Given the description of an element on the screen output the (x, y) to click on. 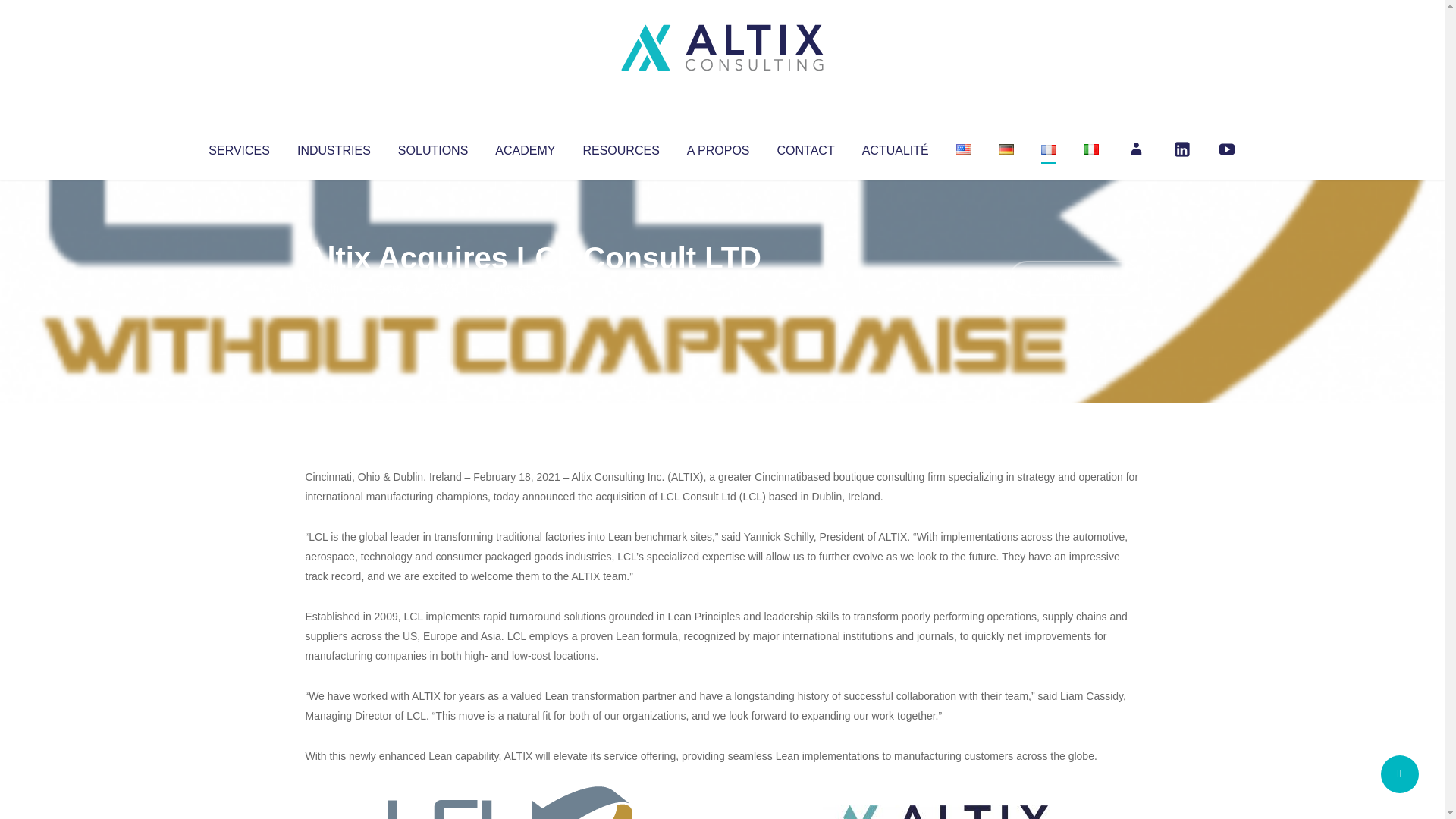
Altix (333, 287)
Articles par Altix (333, 287)
Uncategorized (530, 287)
No Comments (1073, 278)
SOLUTIONS (432, 146)
ACADEMY (524, 146)
INDUSTRIES (334, 146)
RESOURCES (620, 146)
SERVICES (238, 146)
A PROPOS (718, 146)
